Given the description of an element on the screen output the (x, y) to click on. 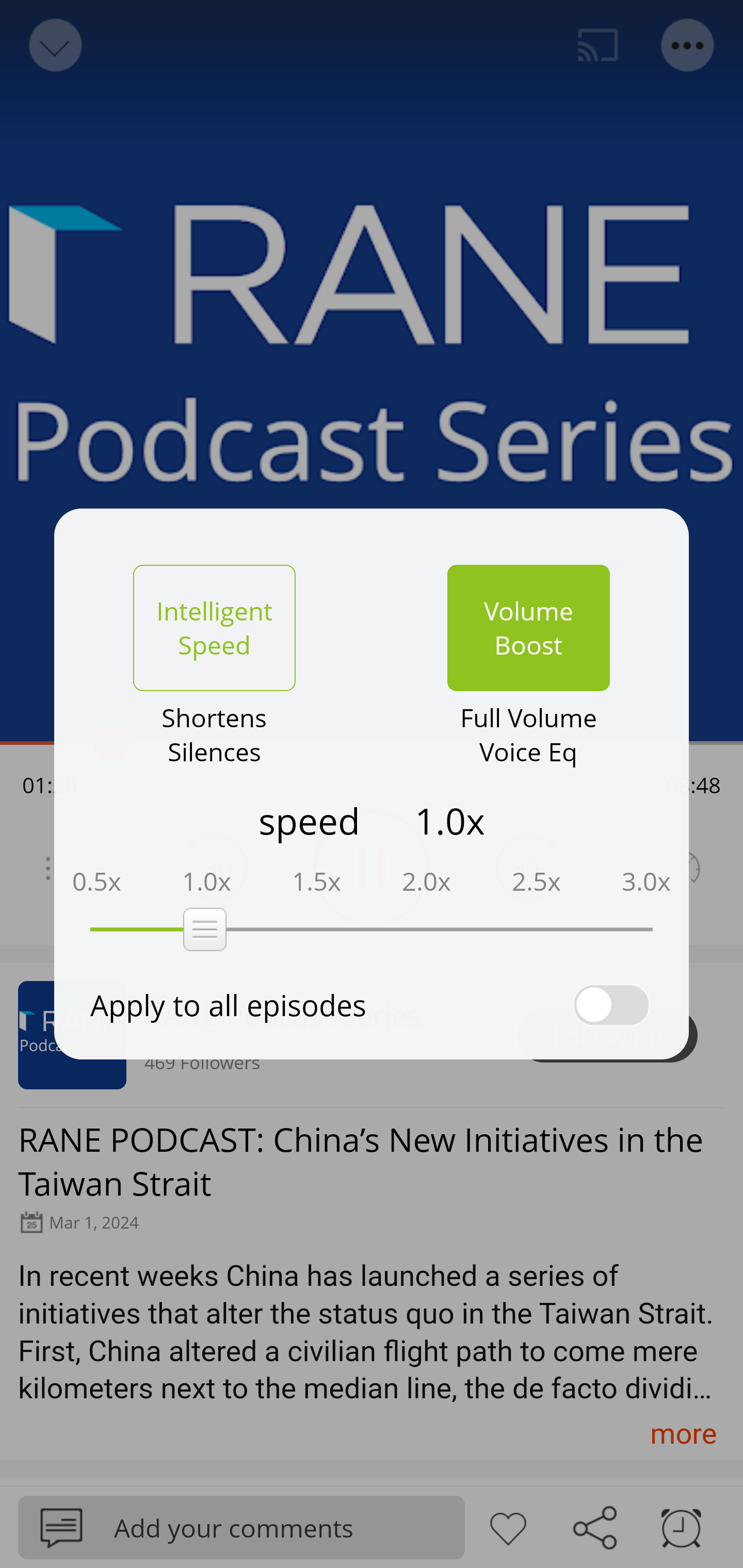
Intelligent
Speed (213, 627)
Volume
Boost (528, 627)
